Given the description of an element on the screen output the (x, y) to click on. 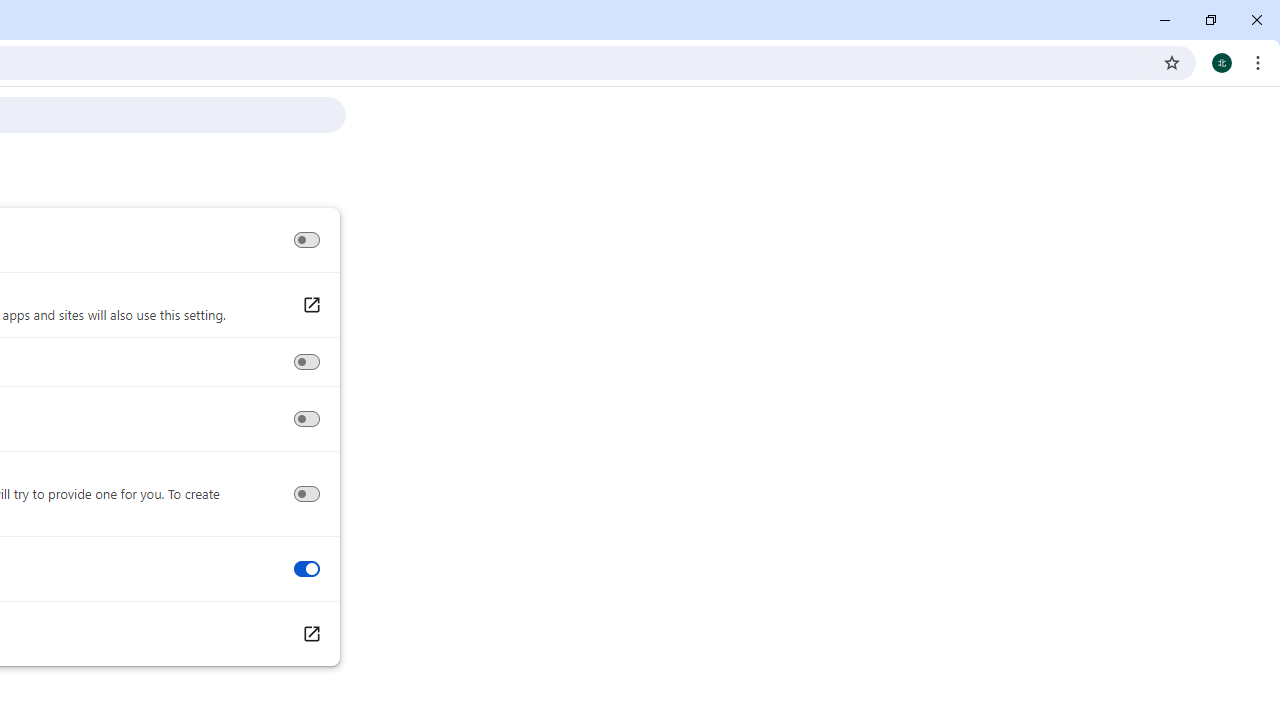
Show a quick highlight on the focused object (306, 362)
Live Caption (306, 240)
Navigate pages with a text cursor (306, 419)
Swipe between pages (306, 569)
Add accessibility features Open Chrome Web Store (310, 633)
Get image descriptions from Google (306, 494)
